Given the description of an element on the screen output the (x, y) to click on. 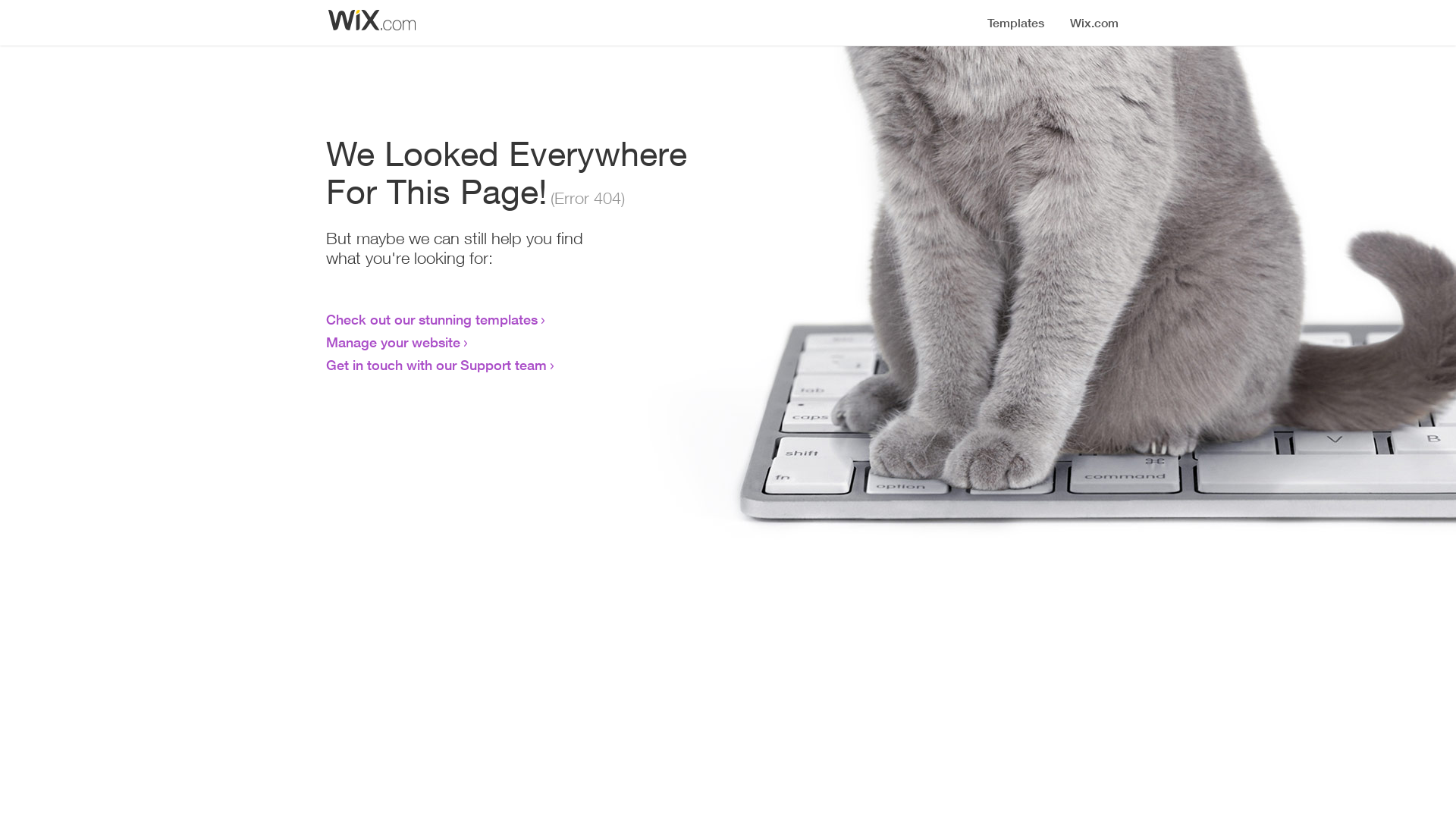
Check out our stunning templates Element type: text (431, 318)
Manage your website Element type: text (393, 341)
Get in touch with our Support team Element type: text (436, 364)
